Given the description of an element on the screen output the (x, y) to click on. 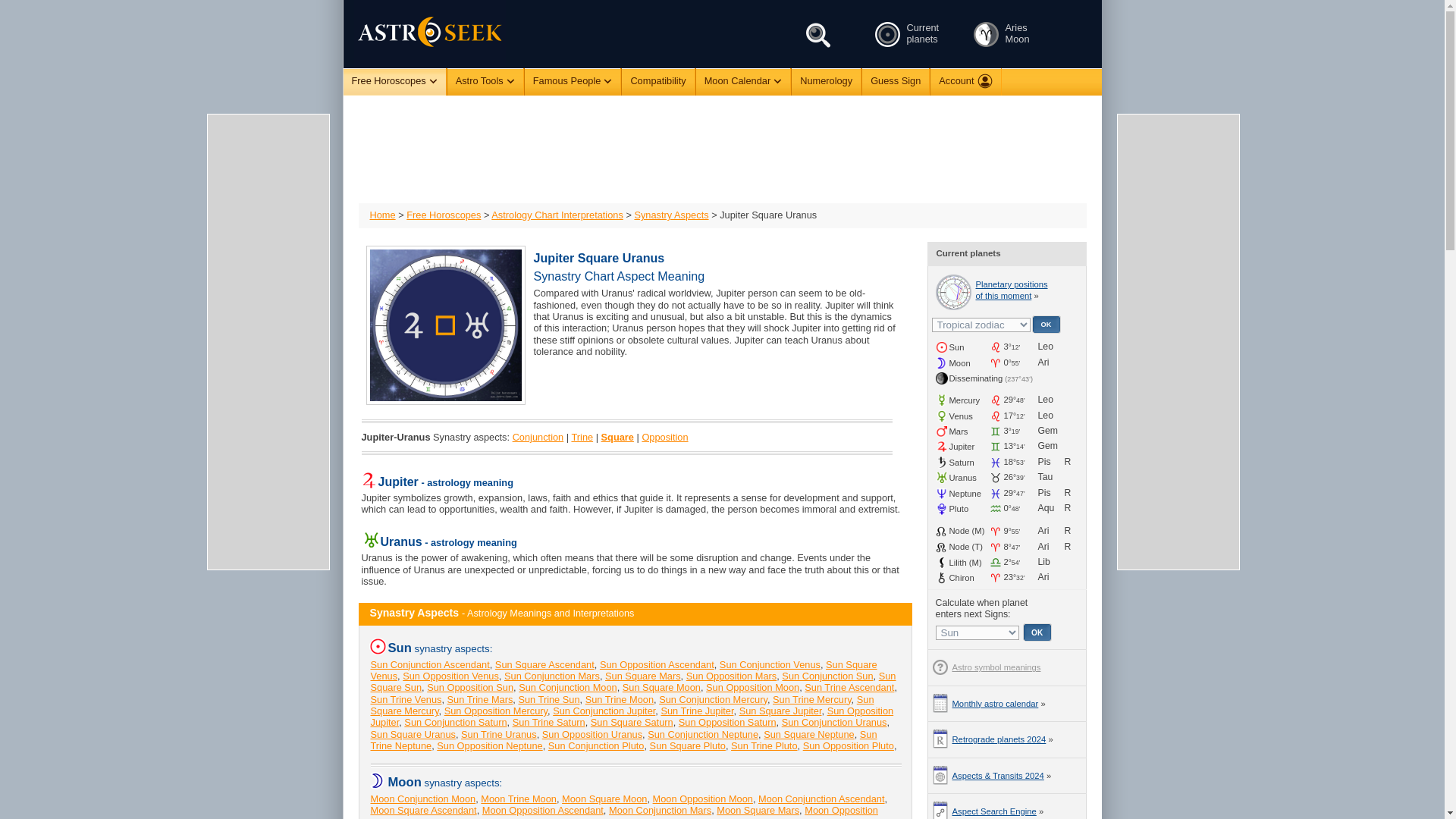
Advertisement (721, 148)
Moon Lunar calendar 2024 (985, 34)
Search (818, 34)
Compatibility (657, 81)
OK (1044, 324)
Famous People (572, 81)
Astro Tools (484, 81)
OK (1037, 632)
Moon Calendar (742, 81)
Current Planets, Astrology Transits, Chart of this moment (886, 34)
Free Horoscopes (393, 81)
Homepage - Astro-Seek.com (418, 33)
